Given the description of an element on the screen output the (x, y) to click on. 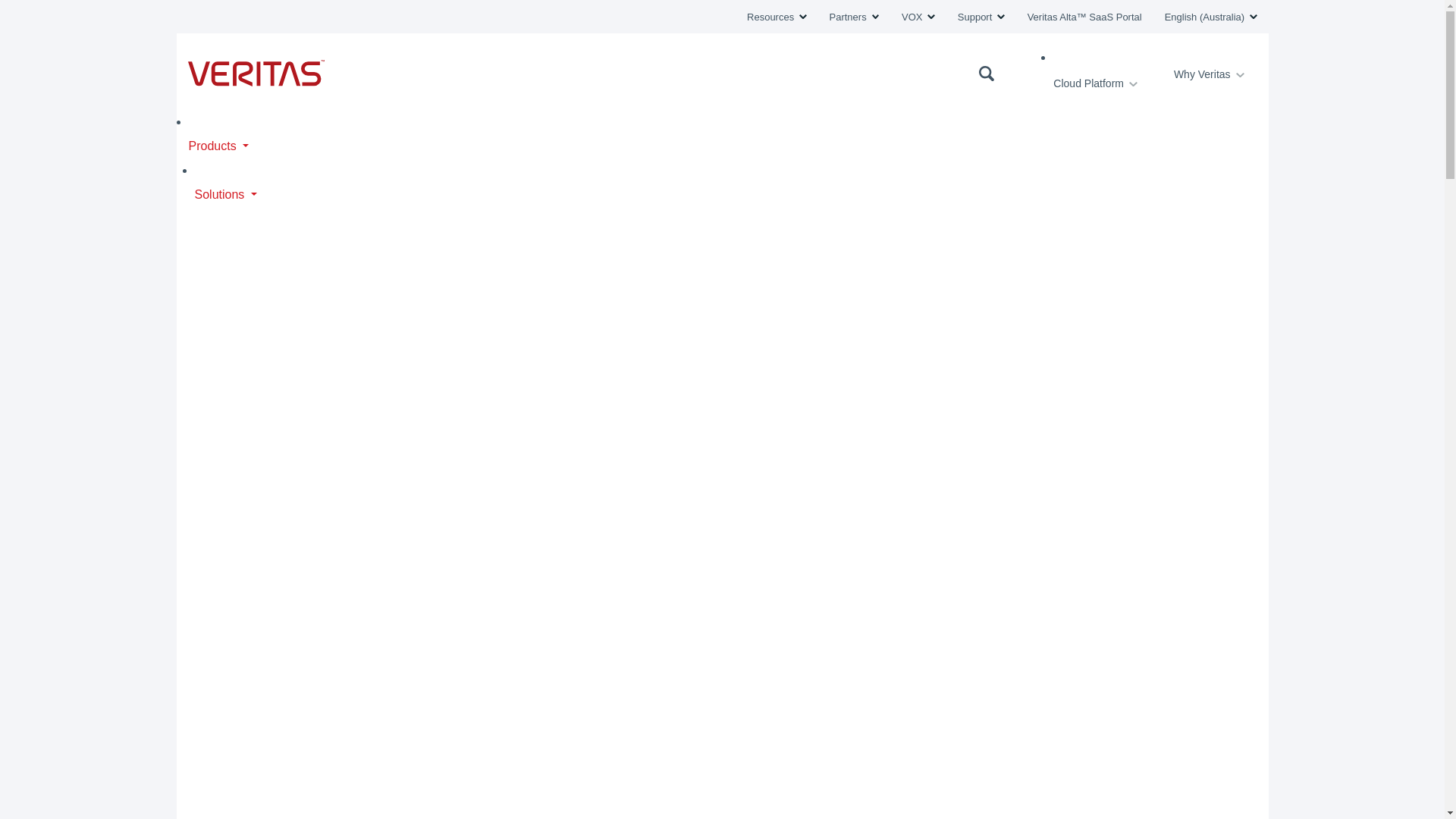
Support (981, 16)
VOX (917, 16)
Partners (854, 16)
Resources (776, 16)
